Given the description of an element on the screen output the (x, y) to click on. 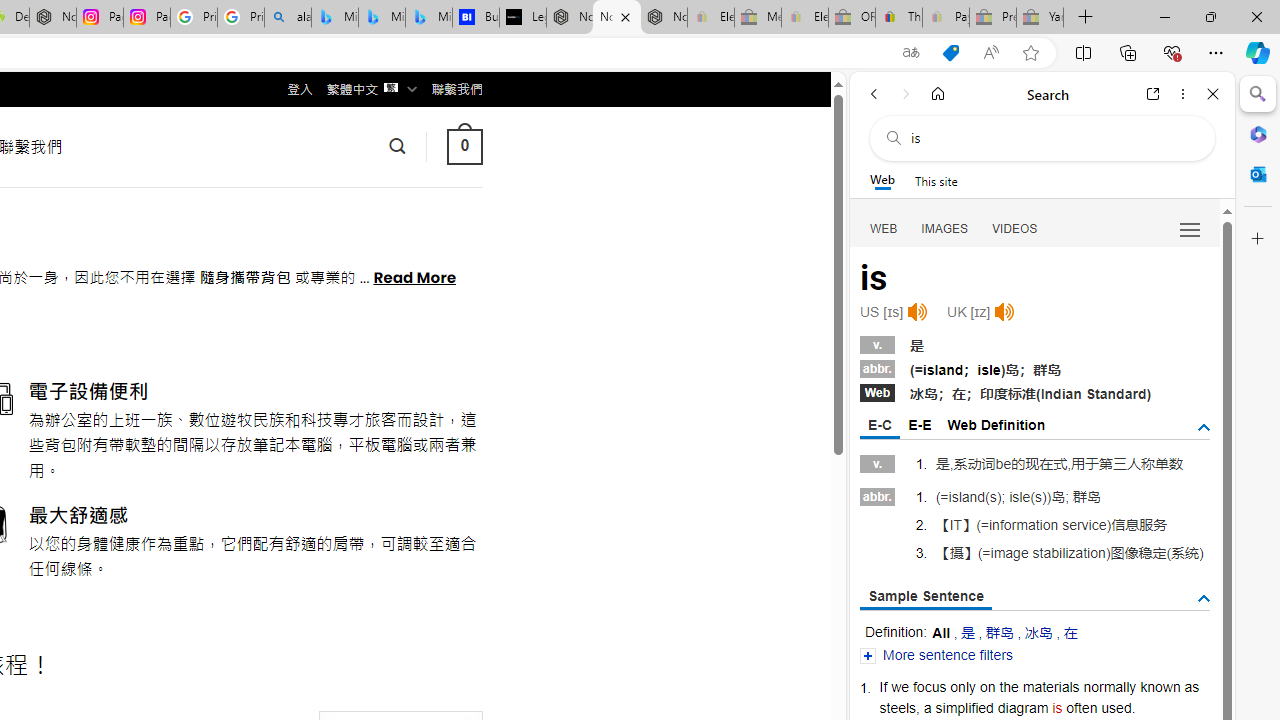
Microsoft Bing Travel - Flights from Hong Kong to Bangkok (335, 17)
Web Definition (996, 424)
Click to listen (1004, 312)
steels (897, 707)
If (883, 686)
